Given the description of an element on the screen output the (x, y) to click on. 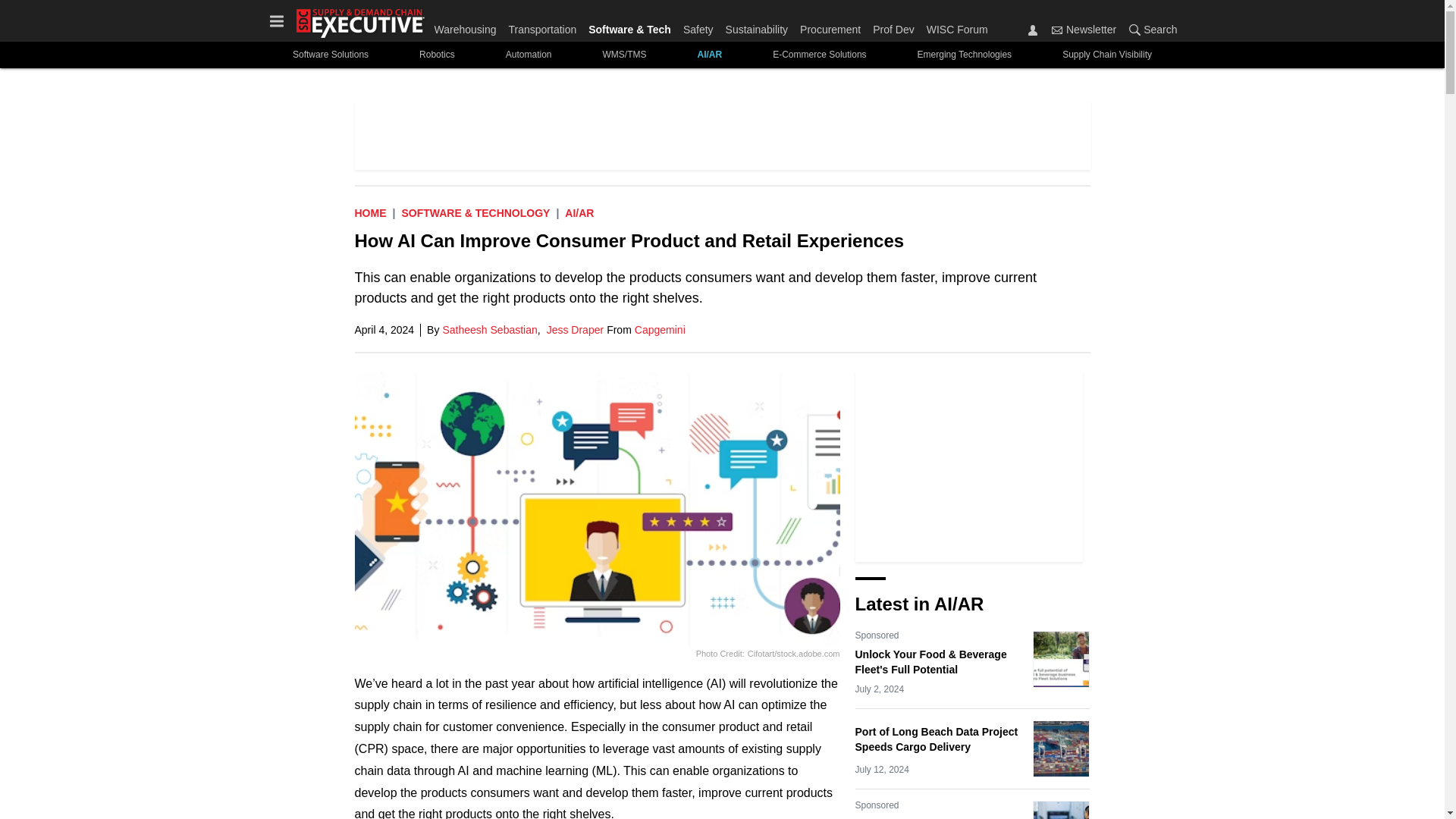
Software Solutions (330, 54)
Robotics (437, 54)
Sustainability (756, 26)
Sign In (1032, 29)
Search (1149, 29)
3rd party ad content (722, 135)
E-Commerce Solutions (819, 54)
Newsletter (1083, 29)
Safety (698, 26)
Emerging Technologies (964, 54)
Newsletter (1056, 29)
WISC Forum (954, 26)
Supply Chain Visibility (1107, 54)
Transportation (542, 26)
